Given the description of an element on the screen output the (x, y) to click on. 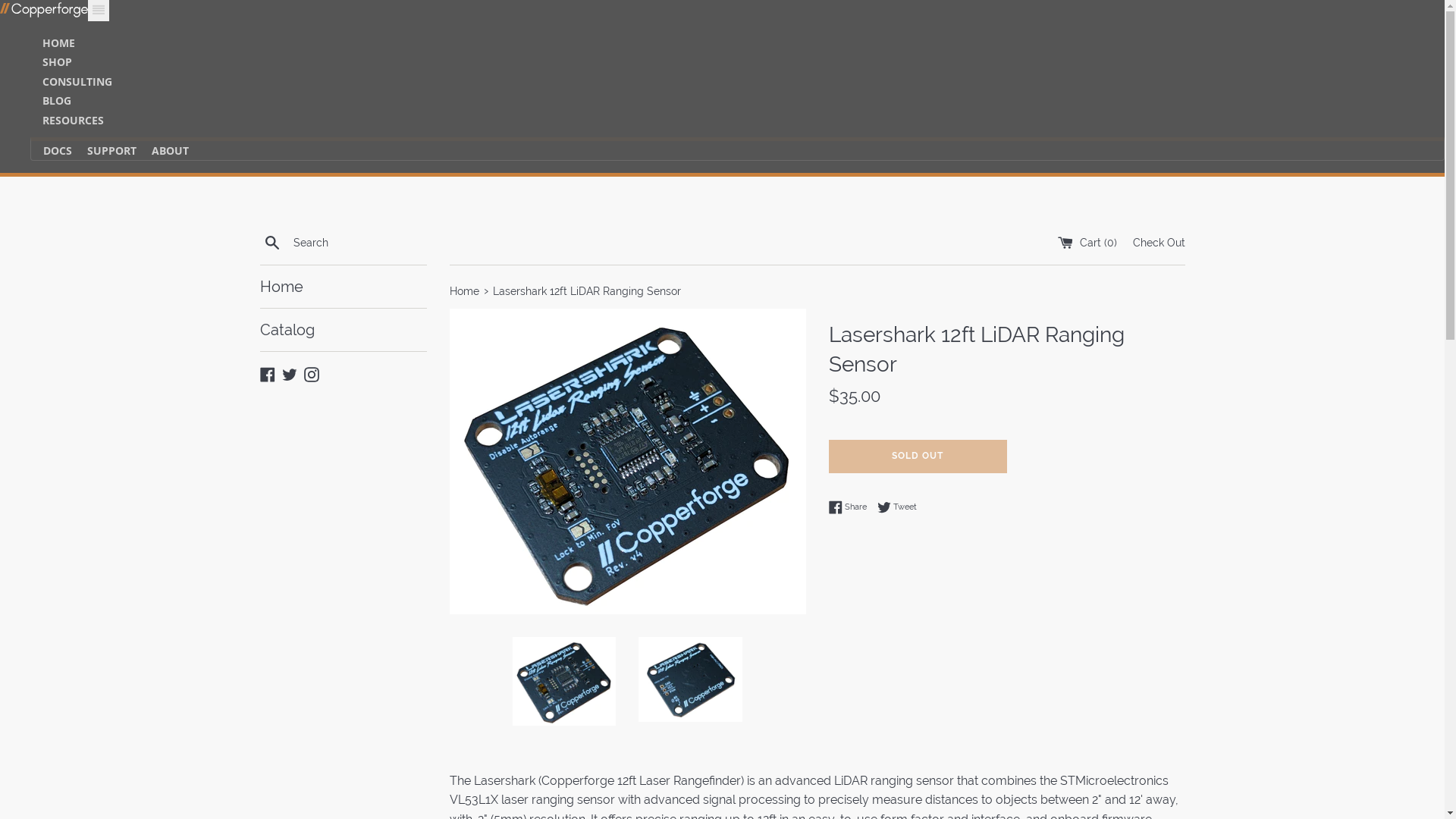
Search Element type: text (271, 242)
CONSULTING Element type: text (77, 81)
DOCS Element type: text (51, 150)
BLOG Element type: text (56, 100)
Check Out Element type: text (1158, 241)
Facebook Element type: text (266, 373)
ABOUT Element type: text (163, 150)
SHOP Element type: text (57, 61)
Cart (0) Element type: text (1088, 241)
Tweet
Tweet on Twitter Element type: text (896, 507)
SUPPORT Element type: text (105, 150)
Catalog Element type: text (342, 329)
Share
Share on Facebook Element type: text (850, 507)
Home Element type: text (342, 286)
Instagram Element type: text (310, 373)
Twitter Element type: text (289, 373)
HOME Element type: text (58, 42)
Home Element type: text (464, 290)
SOLD OUT Element type: text (917, 456)
RESOURCES Element type: text (73, 119)
